Given the description of an element on the screen output the (x, y) to click on. 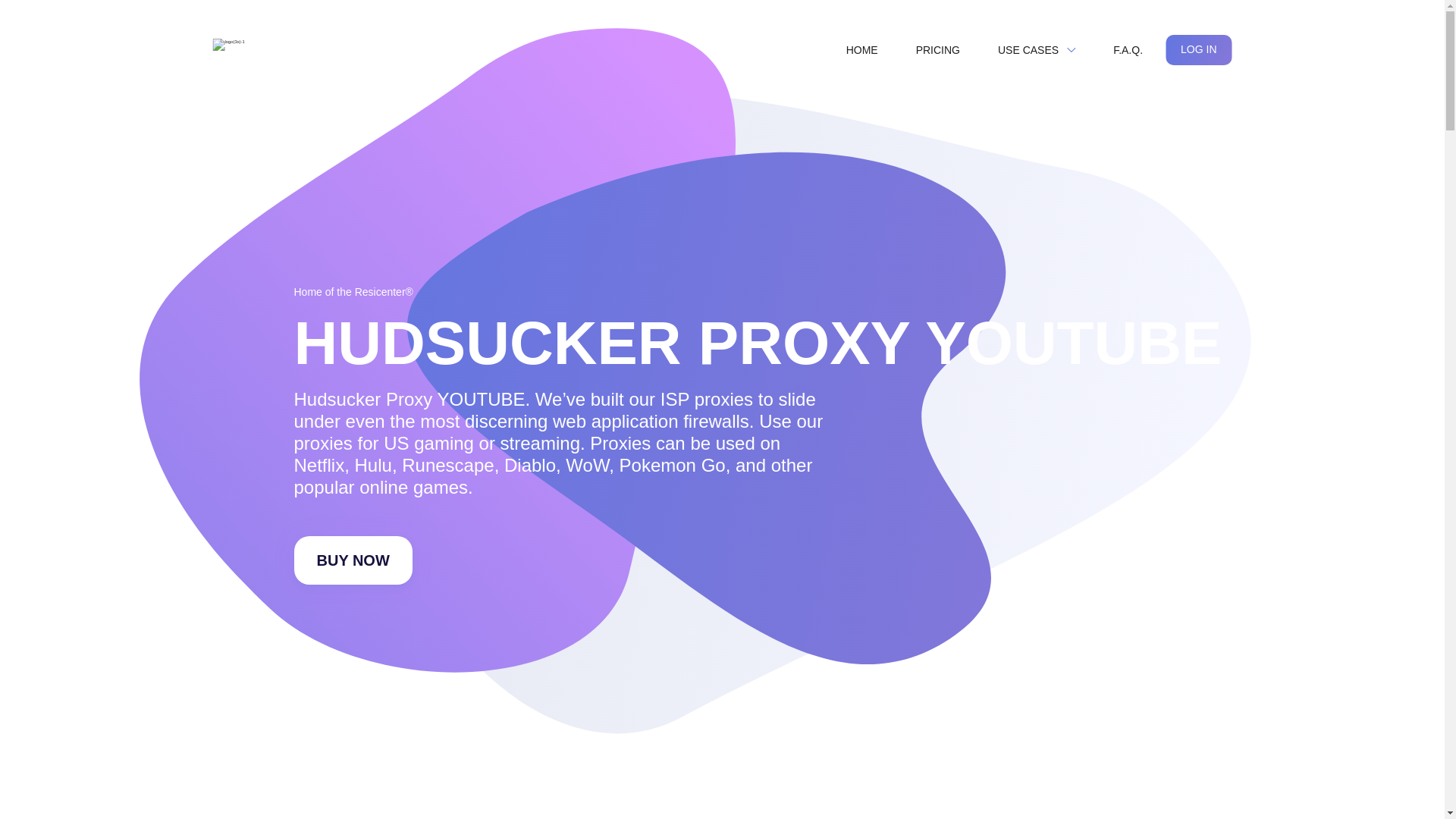
BUY NOW (353, 560)
HOME (862, 49)
LOG IN (1198, 50)
F.A.Q. (1127, 49)
USE CASES (1036, 49)
PRICING (938, 49)
